Given the description of an element on the screen output the (x, y) to click on. 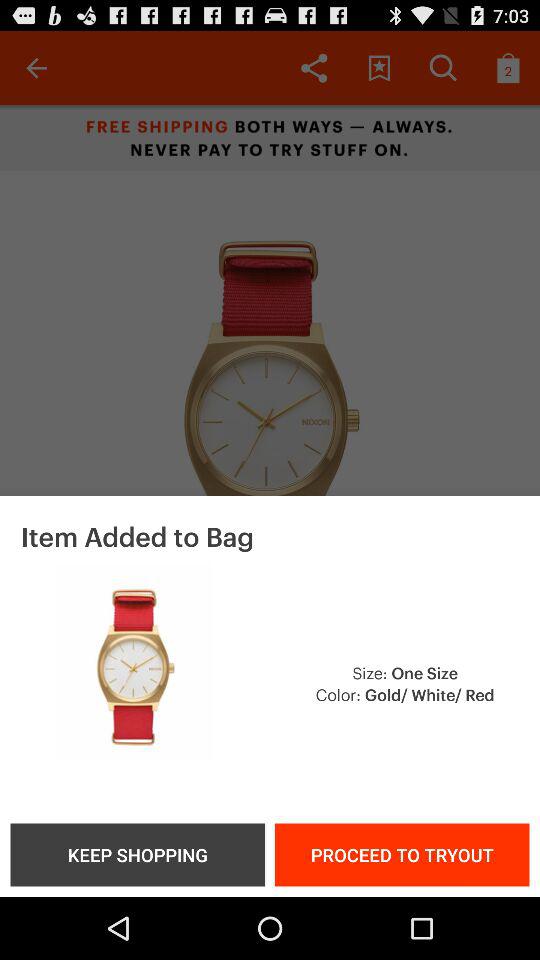
select proceed to tryout icon (402, 854)
